Given the description of an element on the screen output the (x, y) to click on. 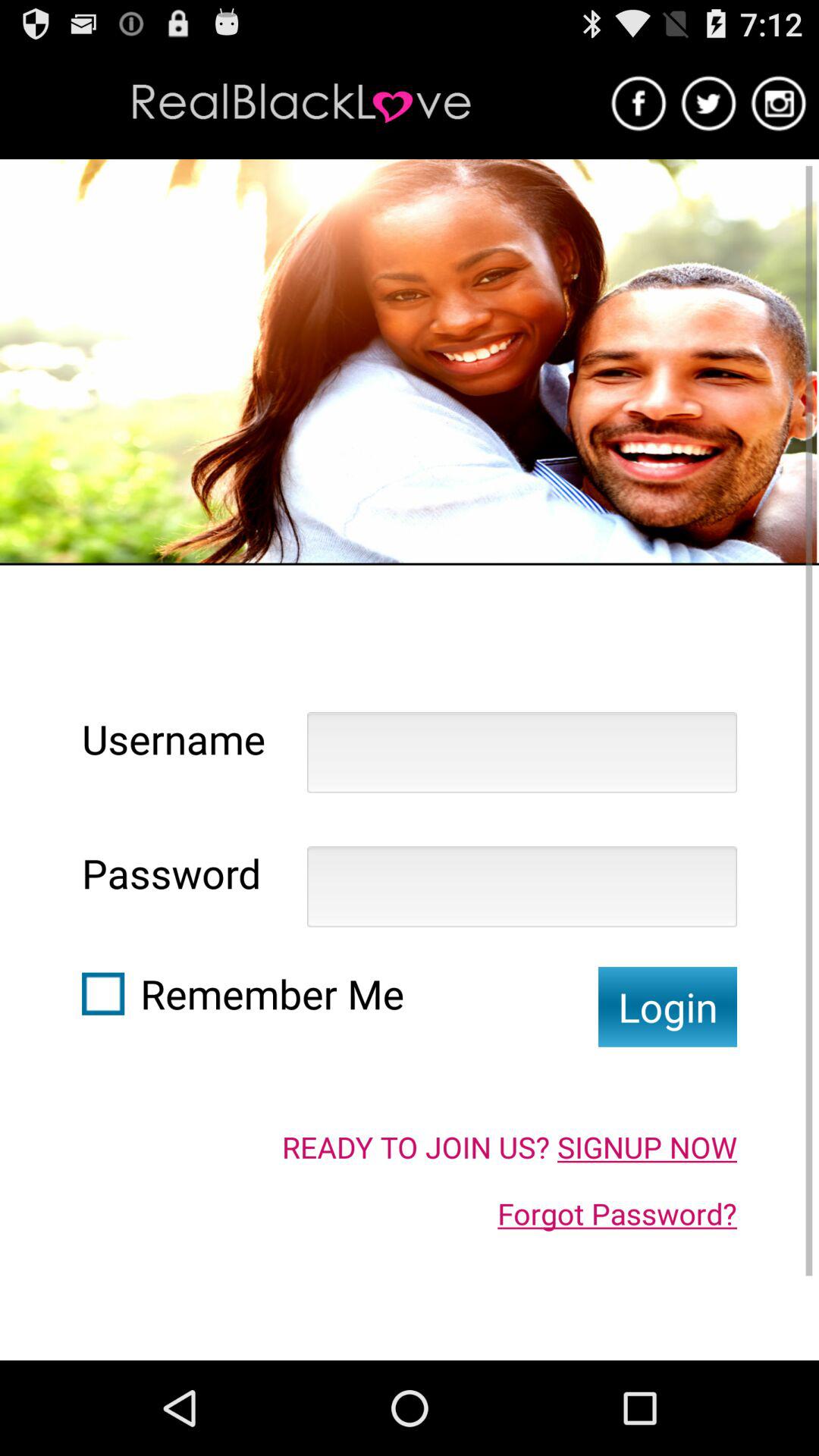
choose the icon to the left of remember me app (102, 993)
